Given the description of an element on the screen output the (x, y) to click on. 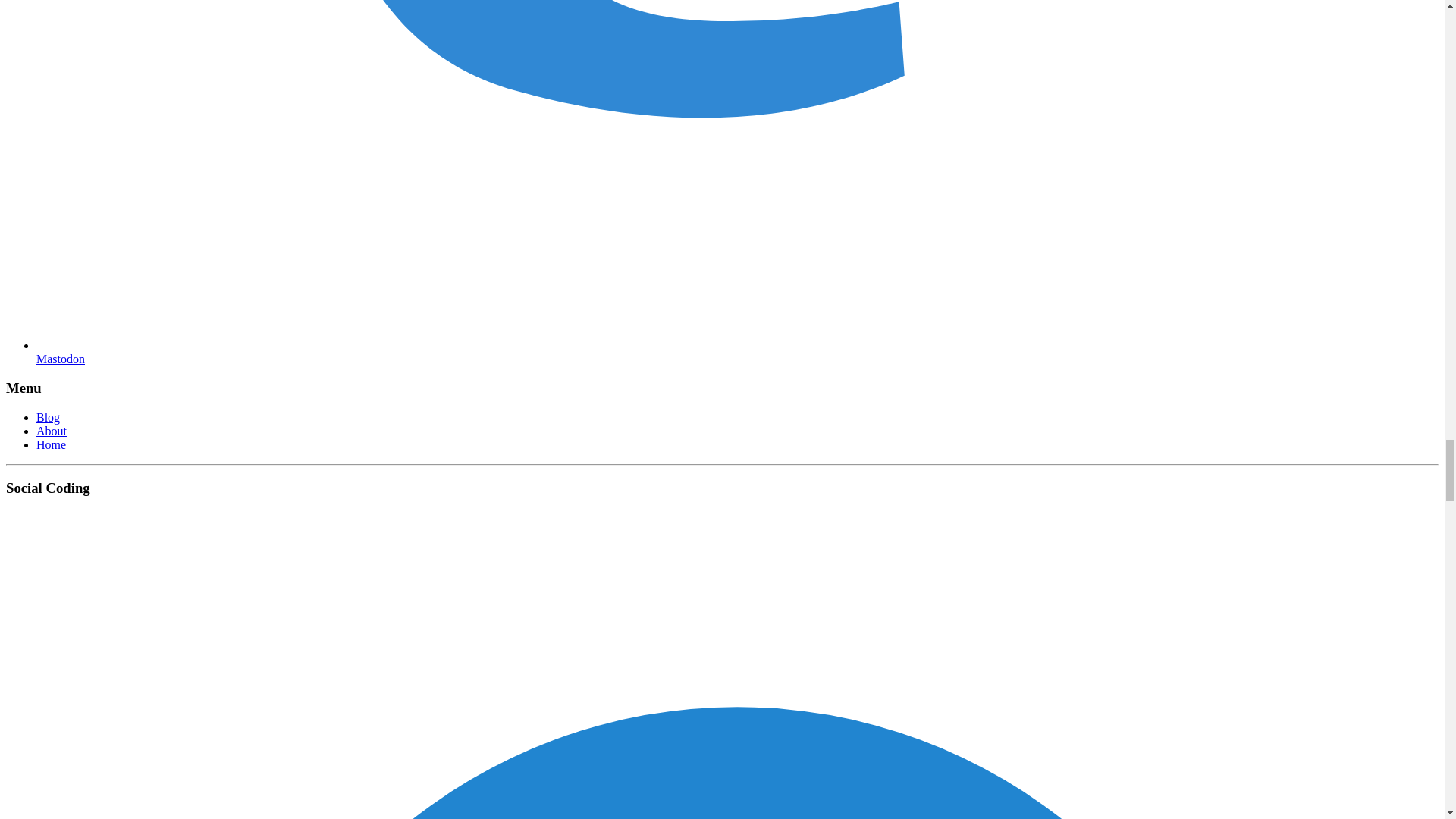
Home (50, 444)
About (51, 431)
Blog (47, 417)
